Given the description of an element on the screen output the (x, y) to click on. 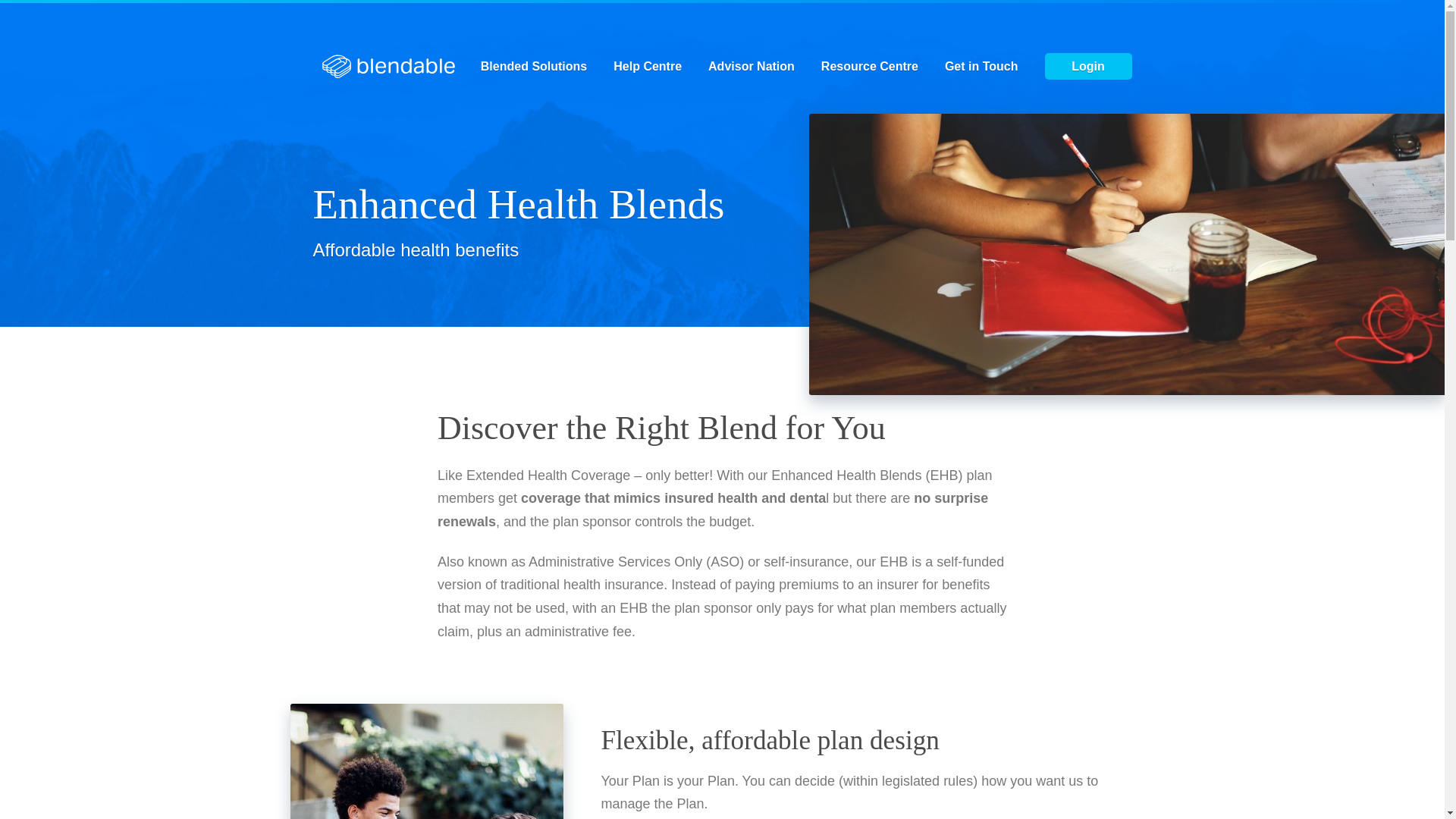
Login Element type: text (1088, 66)
Resource Centre Element type: text (869, 66)
Advisor Nation Element type: text (751, 66)
Blended Solutions Element type: text (533, 66)
Help Centre Element type: text (647, 66)
Get in Touch Element type: text (981, 66)
